Given the description of an element on the screen output the (x, y) to click on. 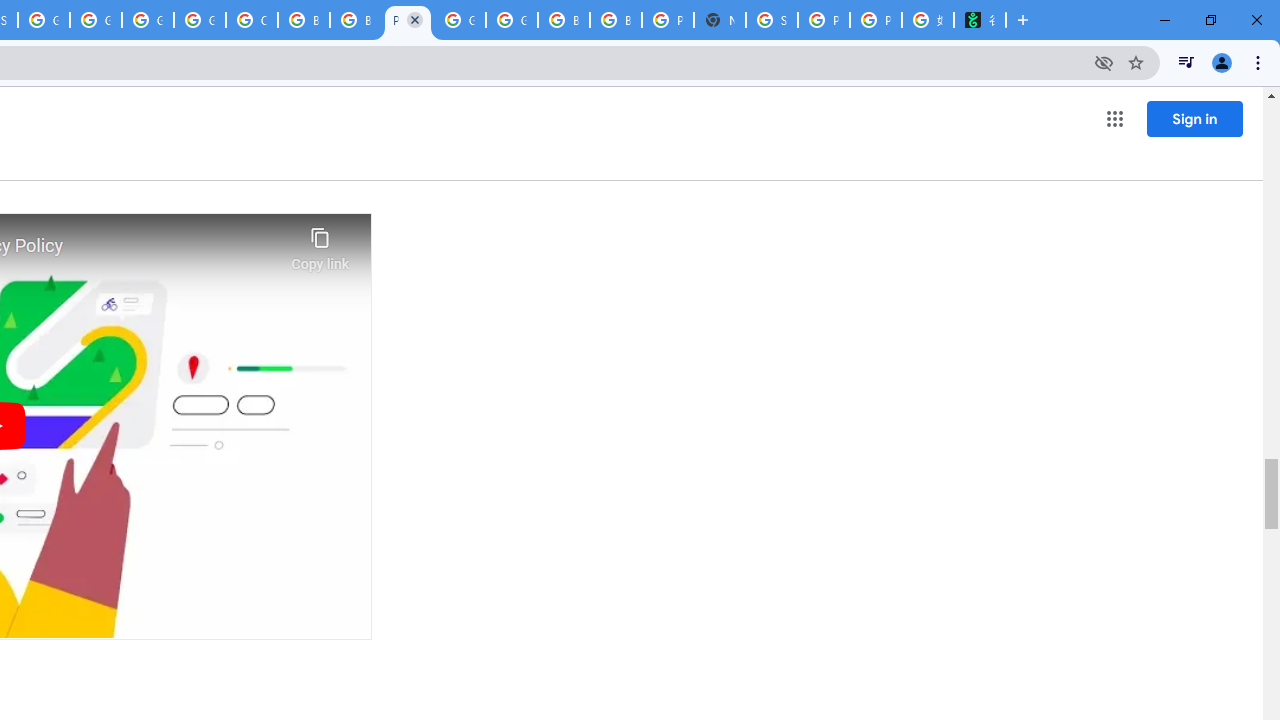
Google Cloud Platform (459, 20)
New Tab (719, 20)
Google Cloud Platform (511, 20)
Copy link (319, 244)
Google Cloud Platform (147, 20)
Browse Chrome as a guest - Computer - Google Chrome Help (303, 20)
